Given the description of an element on the screen output the (x, y) to click on. 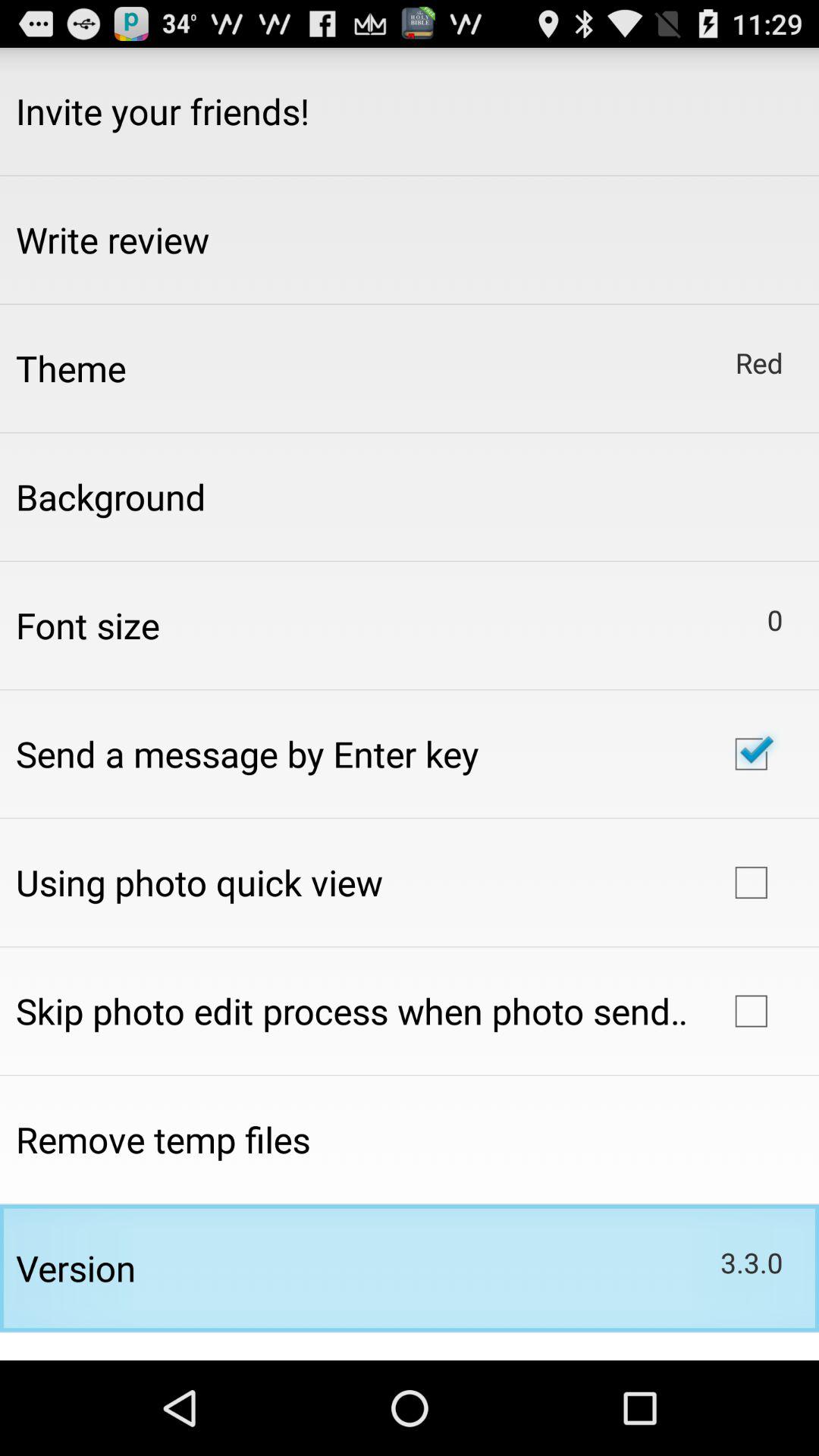
launch red at the top right corner (759, 362)
